Given the description of an element on the screen output the (x, y) to click on. 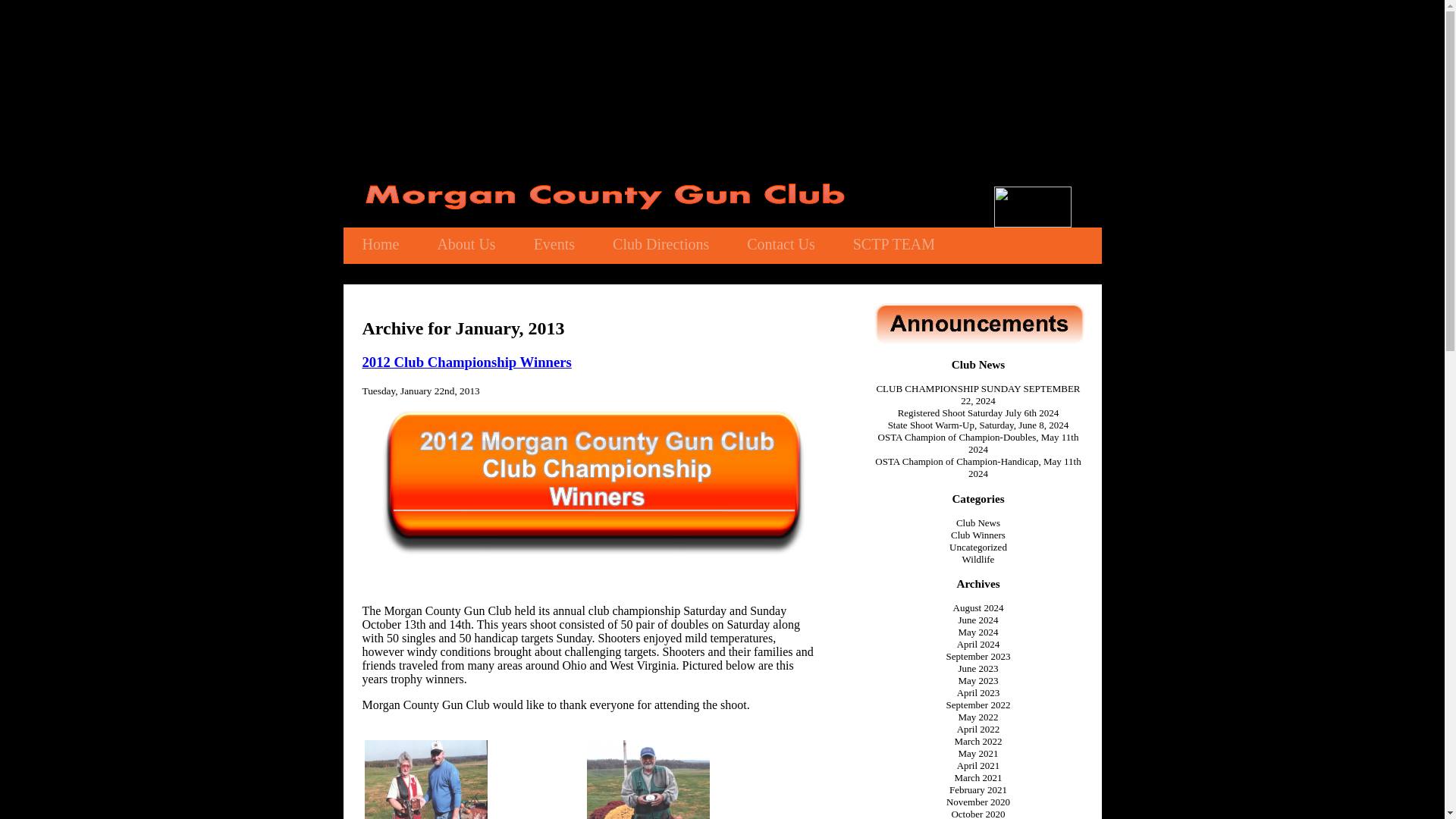
March 2021 (977, 777)
Contact Us (780, 244)
2012 Club Championship Winners (467, 361)
Registered Shoot Saturday July 6th 2024 (978, 412)
September 2022 (978, 704)
March 2022 (977, 740)
April 2021 (978, 765)
Club Directions (661, 244)
May 2024 (977, 632)
Club Winners (978, 534)
